Given the description of an element on the screen output the (x, y) to click on. 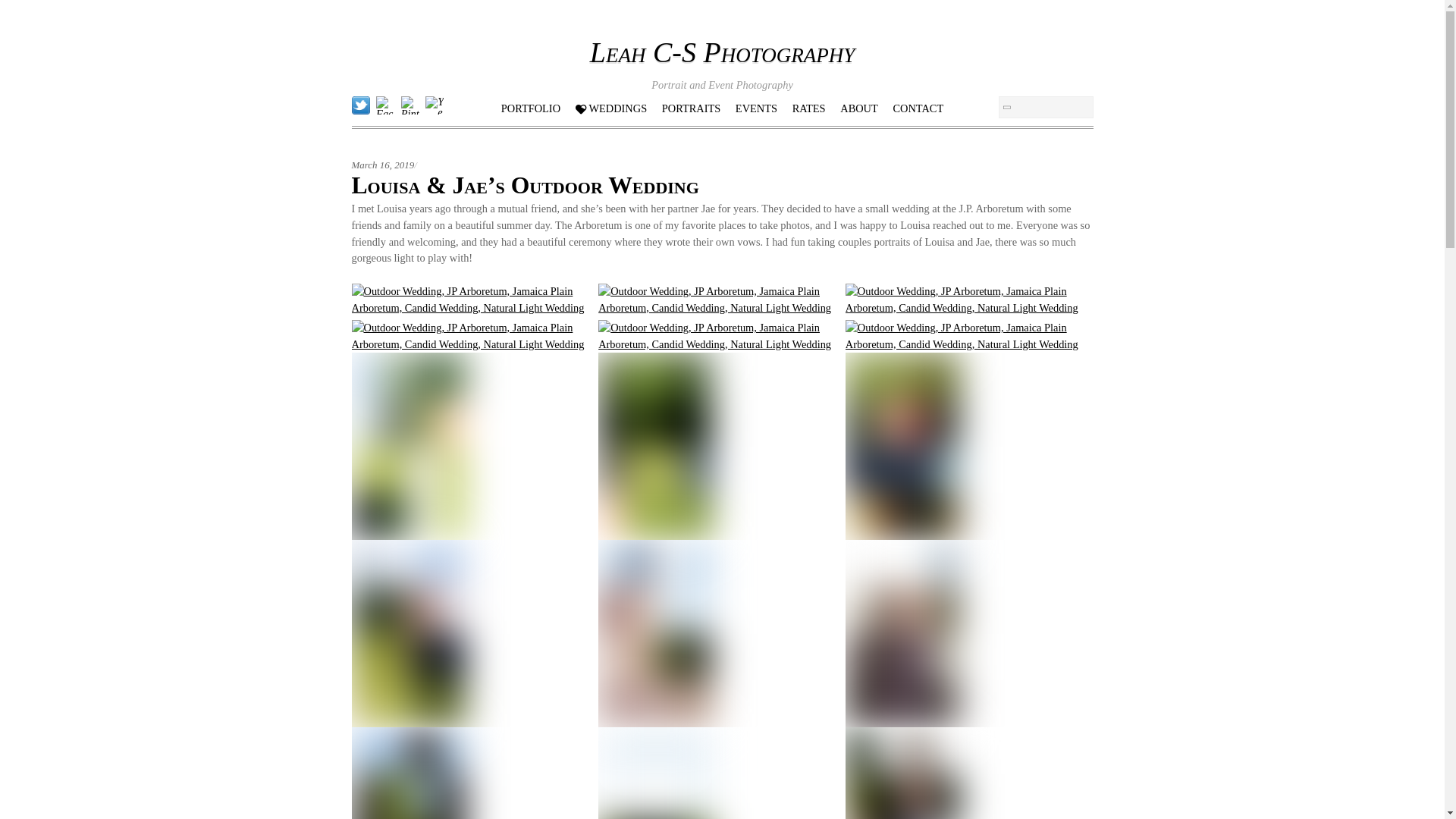
ABOUT (858, 106)
PORTRAITS (691, 106)
PORTFOLIO (530, 106)
Leah C-S Photography (721, 51)
WEDDINGS (610, 106)
Category (756, 106)
CONTACT (917, 106)
Caterogy (691, 106)
EVENTS (756, 106)
Leah C-S Photography (721, 51)
Search (1045, 106)
RATES (808, 106)
